Given the description of an element on the screen output the (x, y) to click on. 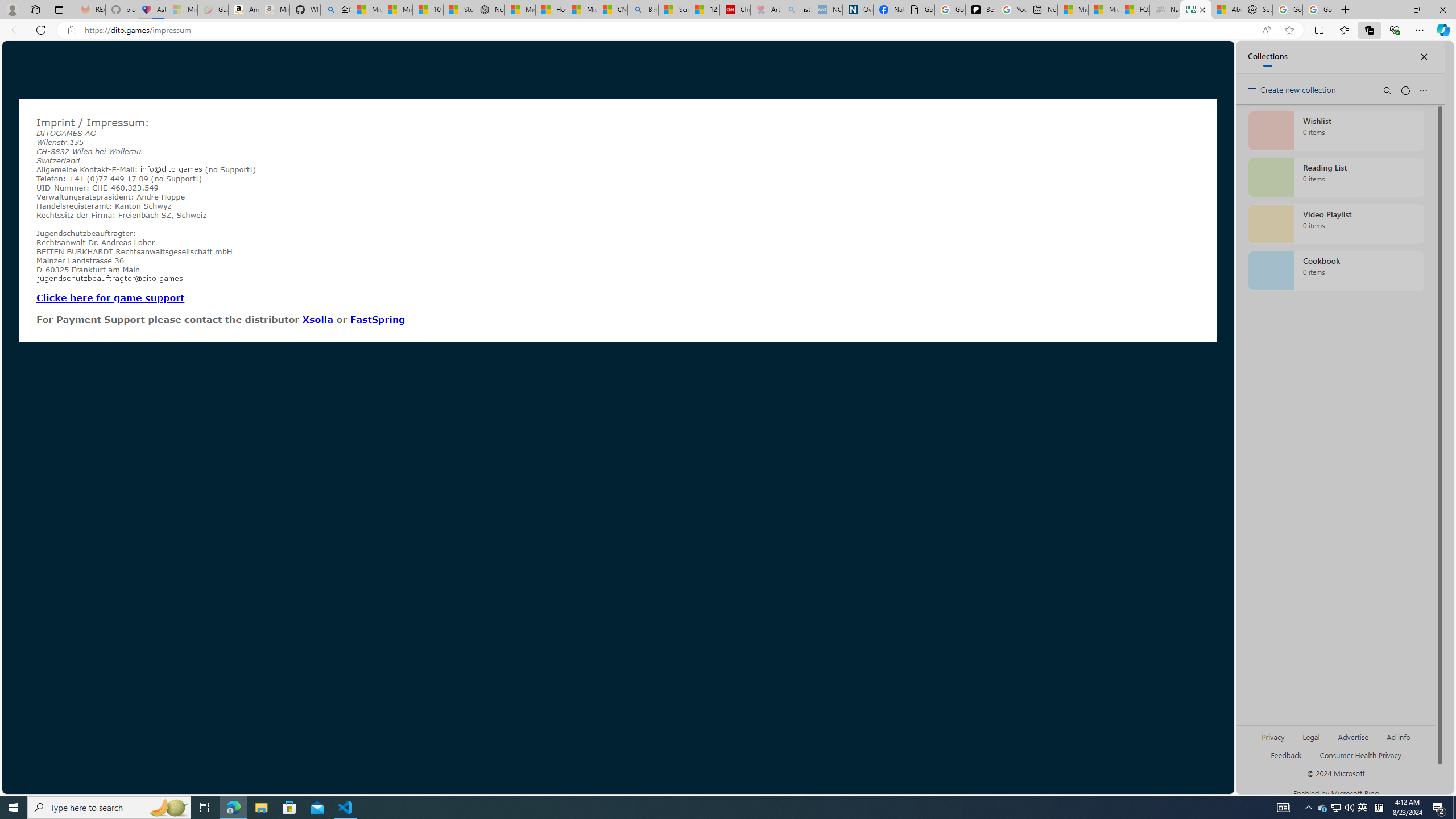
Bing (642, 9)
Aberdeen, Hong Kong SAR hourly forecast | Microsoft Weather (1226, 9)
Arthritis: Ask Health Professionals - Sleeping (765, 9)
FOX News - MSN (1133, 9)
Xsolla (317, 319)
Navy Quest (1164, 9)
Be Smart | creating Science videos | Patreon (980, 9)
Clicke here for game support (110, 297)
